Given the description of an element on the screen output the (x, y) to click on. 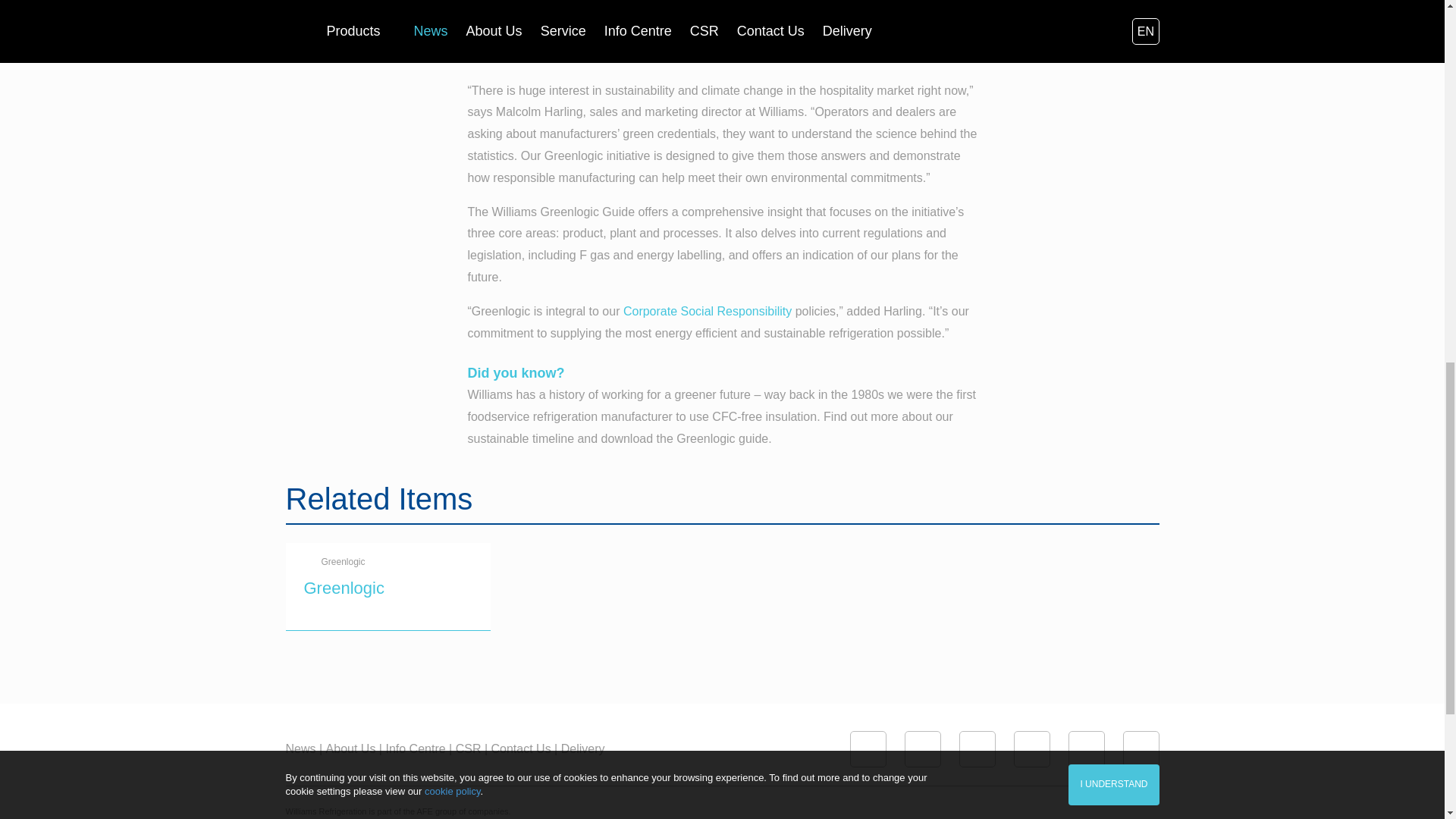
Info Centre (418, 749)
Contact Us (524, 749)
Delivery (582, 749)
About Us (353, 749)
Corporate Social Responsibility (707, 310)
CSR (471, 749)
News (303, 749)
Greenlogic guide (863, 56)
More on CSR (707, 310)
download here (863, 56)
